Given the description of an element on the screen output the (x, y) to click on. 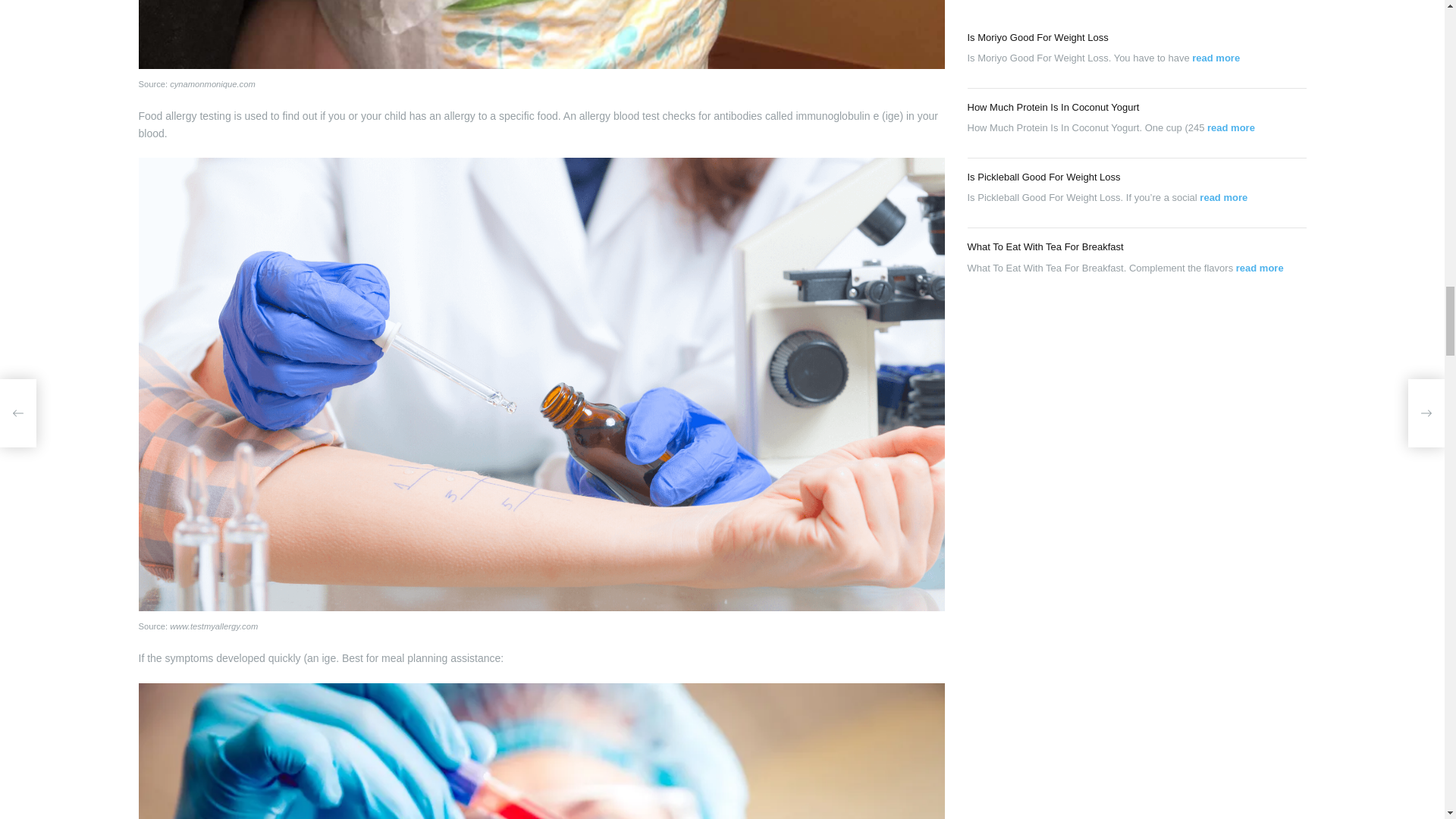
What Food Allergies Do They Test For 38 (540, 34)
What Food Allergies Do They Test For 40 (540, 751)
